Given the description of an element on the screen output the (x, y) to click on. 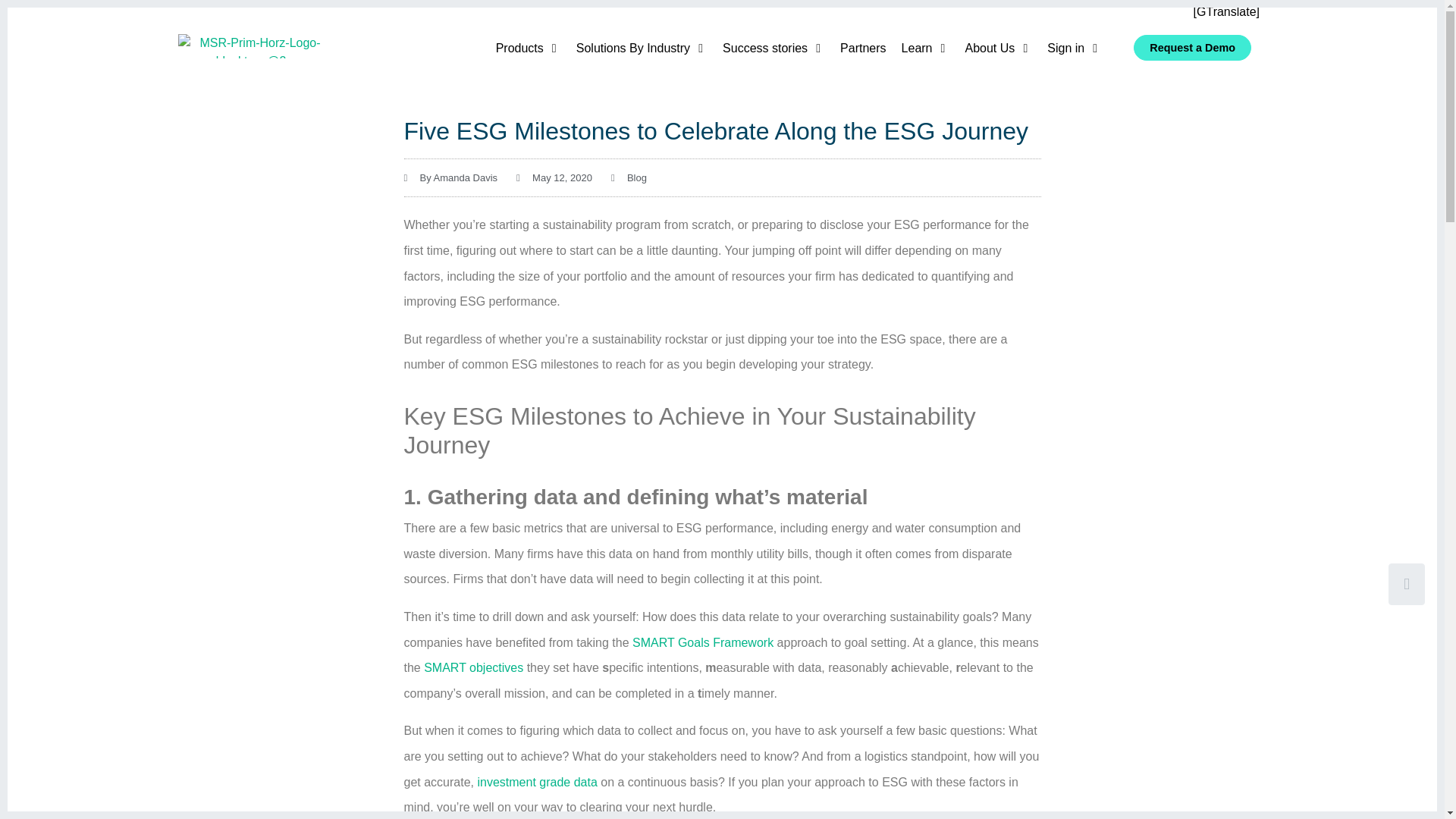
SMART Goals Framework (702, 642)
SMART objectives (472, 667)
Request a Demo (1192, 47)
By Amanda Davis (450, 177)
About Us (988, 48)
Solutions By Industry (633, 48)
Partners (862, 48)
Blog (636, 177)
Sign in (1065, 48)
Learn (917, 48)
Success stories (765, 48)
investment grade data (536, 781)
Products (519, 48)
